Given the description of an element on the screen output the (x, y) to click on. 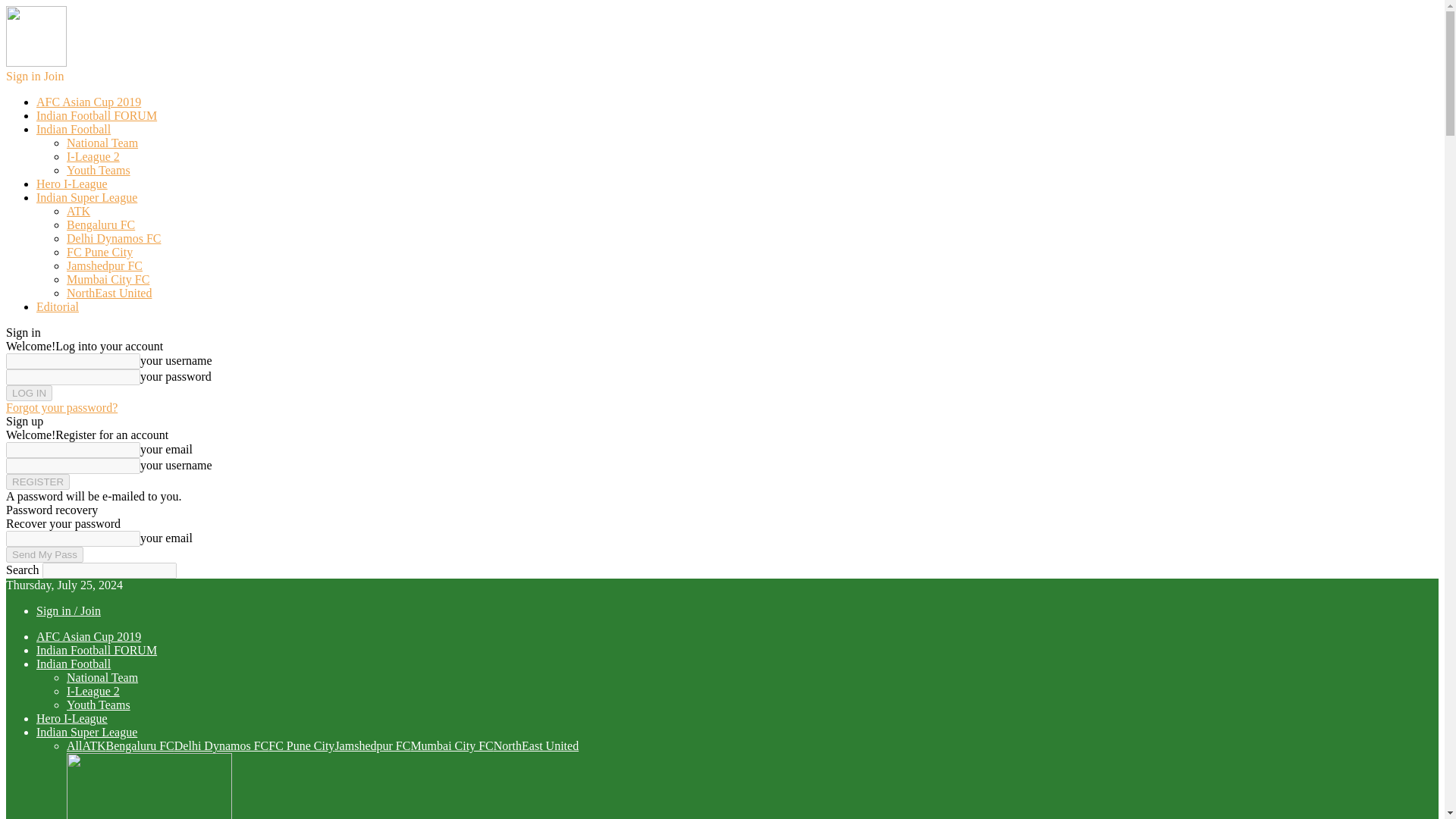
NorthEast United (108, 292)
FC Pune City (99, 251)
Join (53, 75)
National Team (102, 142)
AFC Asian Cup 2019 (88, 101)
Indian Football (73, 128)
National Team (102, 676)
Hero I-League (71, 717)
Indian Football FORUM (96, 115)
Bengaluru FC (100, 224)
AFC Asian Cup 2019 (88, 635)
ATK Acquires Majority Stake in Mohun Bagan (148, 785)
I-League 2 (92, 155)
Indian Football FORUM (96, 649)
Editorial (57, 306)
